Given the description of an element on the screen output the (x, y) to click on. 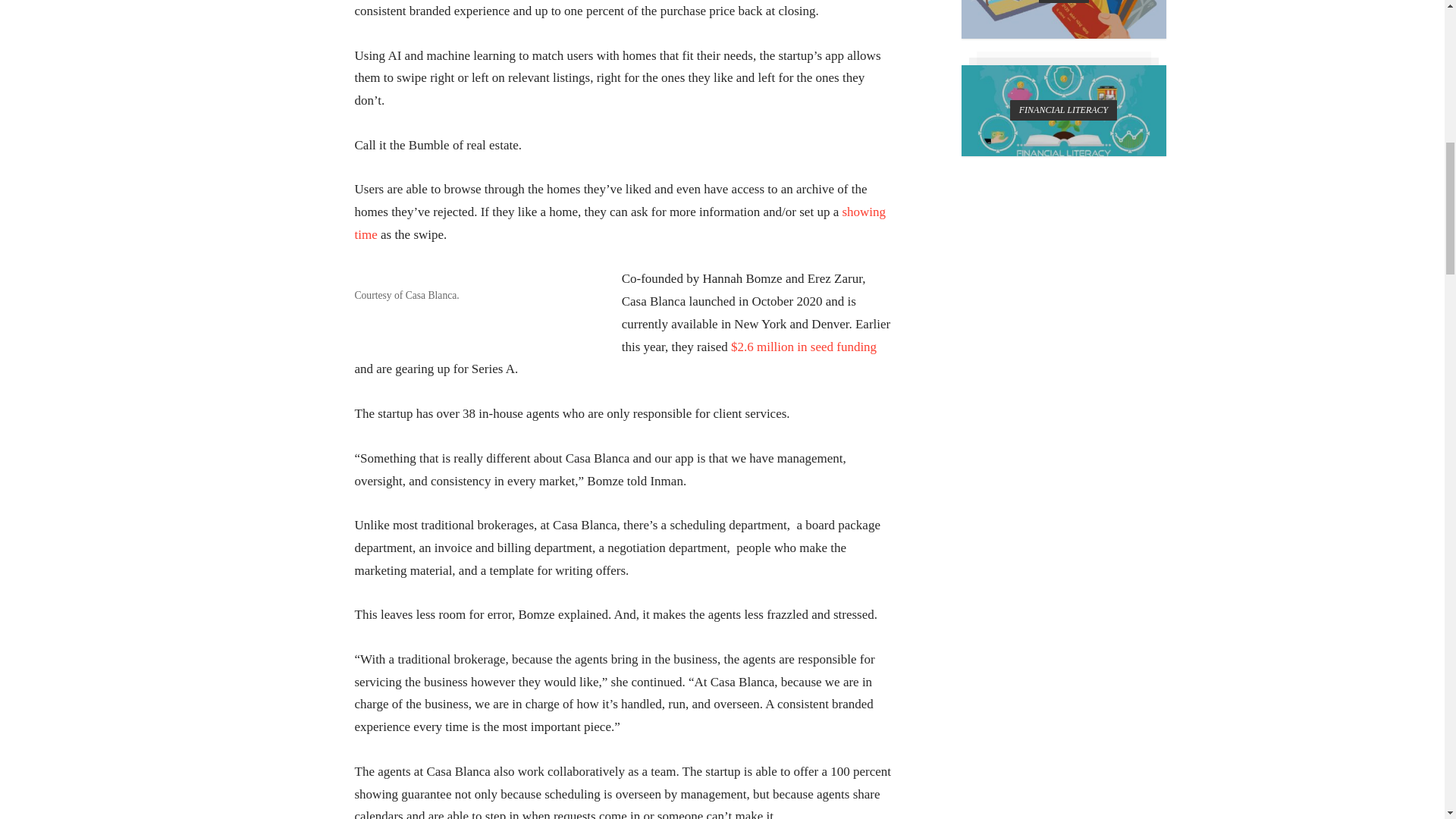
showing time (620, 222)
